Given the description of an element on the screen output the (x, y) to click on. 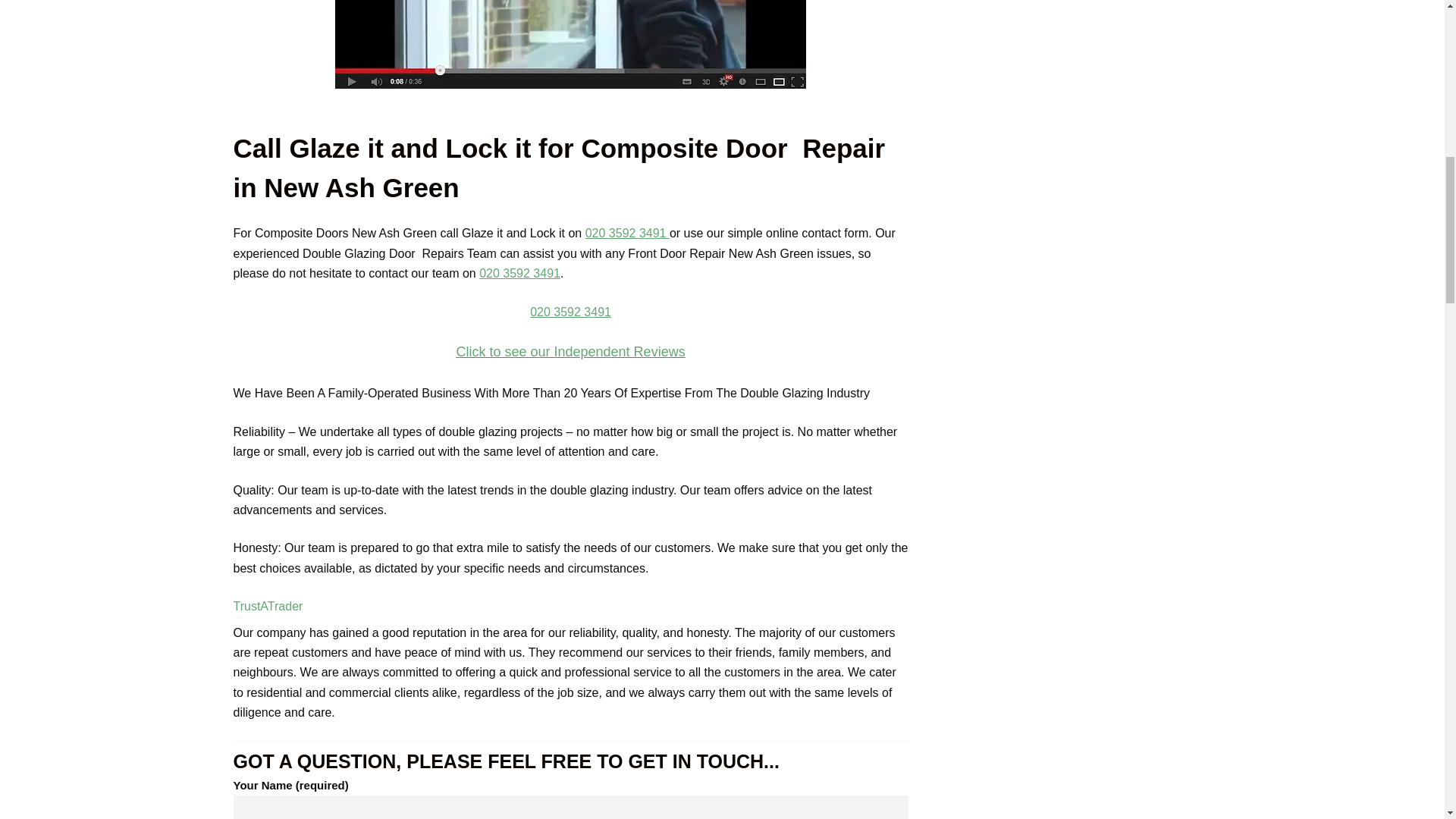
Double Glazing Door Repair (570, 44)
reviews (570, 310)
020 3592 3491 (519, 273)
020 3592 3491 (625, 232)
Click to see our Independent Reviews (569, 351)
TrustATrader (267, 605)
best (569, 351)
020 3592 3491 (570, 311)
composite front door New Ash Green (570, 44)
